Given the description of an element on the screen output the (x, y) to click on. 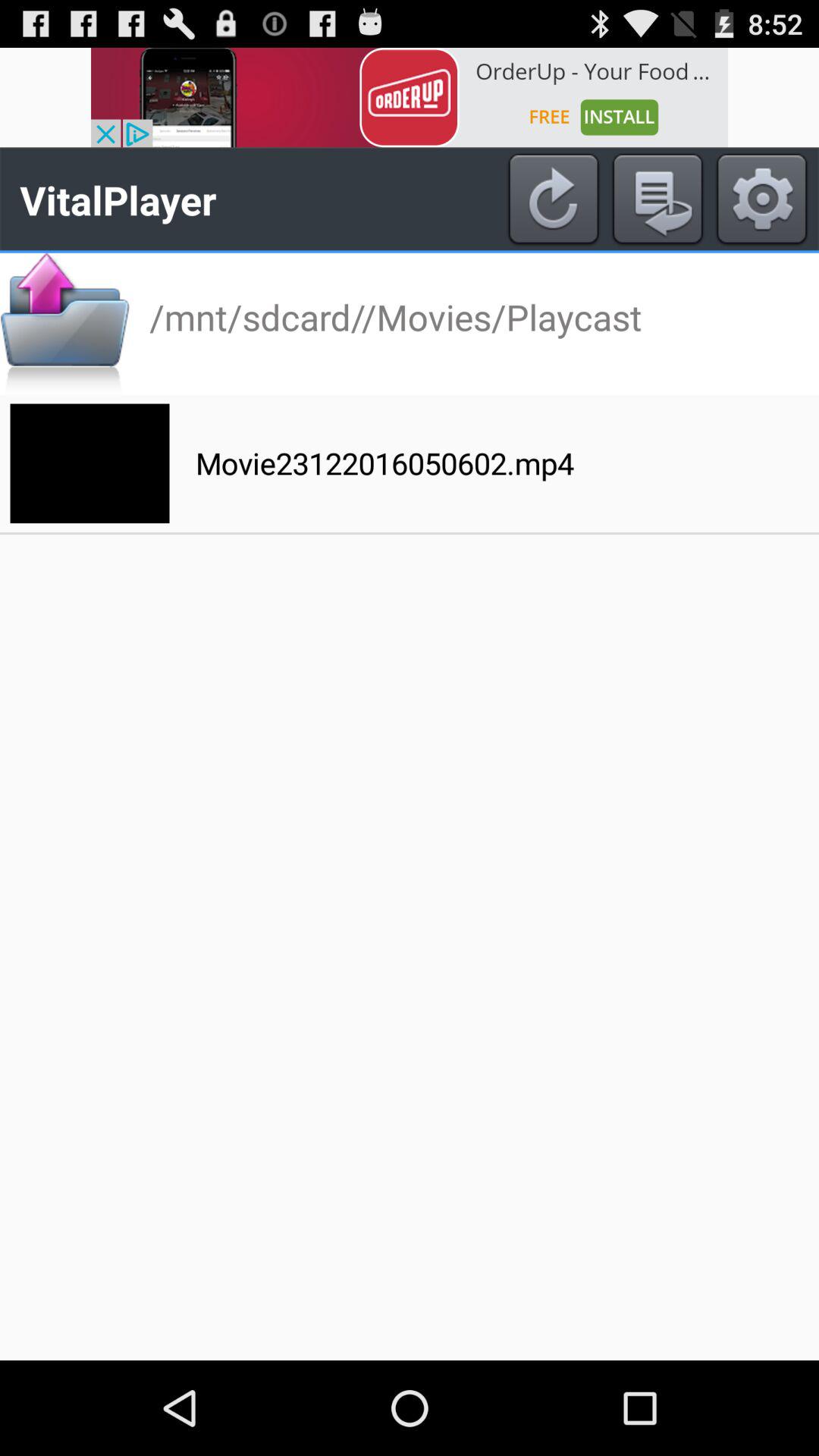
view saved (657, 199)
